Given the description of an element on the screen output the (x, y) to click on. 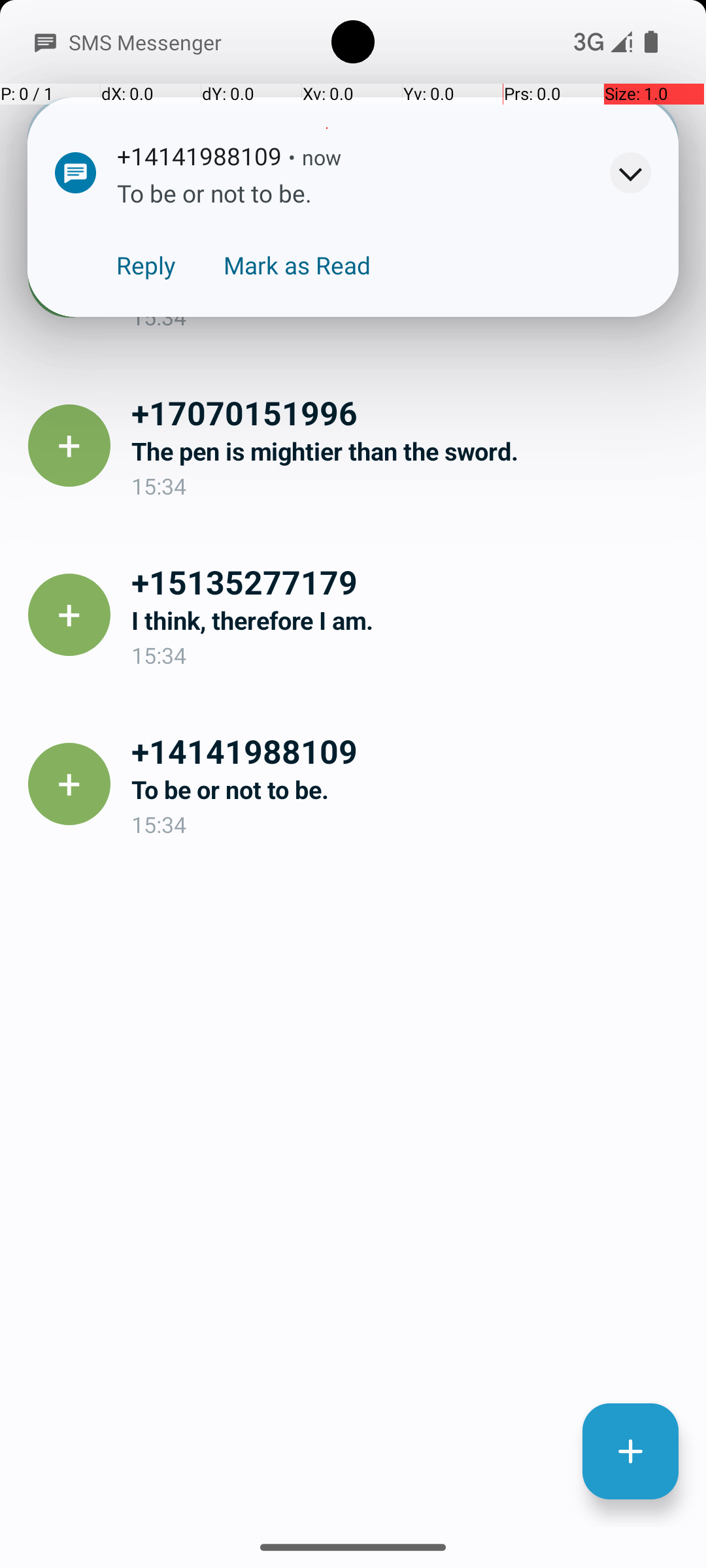
+15508363019 Element type: android.widget.TextView (408, 242)
To be or not to be. Element type: android.widget.TextView (408, 281)
+17070151996 Element type: android.widget.TextView (408, 412)
The pen is mightier than the sword. Element type: android.widget.TextView (408, 450)
+15135277179 Element type: android.widget.TextView (408, 581)
I think, therefore I am. Element type: android.widget.TextView (408, 620)
+14141988109 Element type: android.widget.TextView (408, 750)
